Given the description of an element on the screen output the (x, y) to click on. 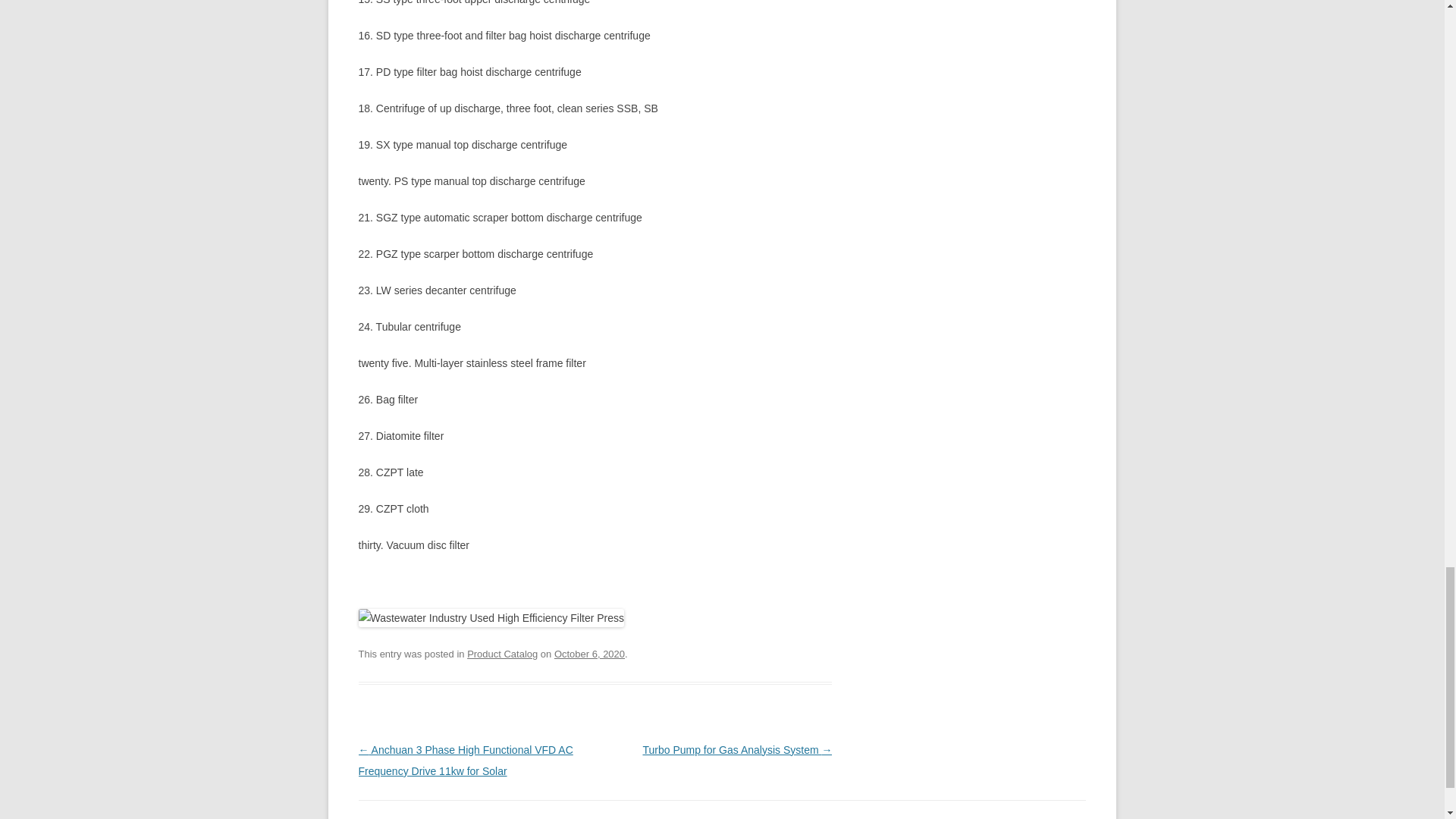
October 6, 2020 (589, 654)
Product Catalog (502, 654)
11:33 pm (589, 654)
Wastewater Industry Used High Efficiency Filter Press (491, 618)
